Given the description of an element on the screen output the (x, y) to click on. 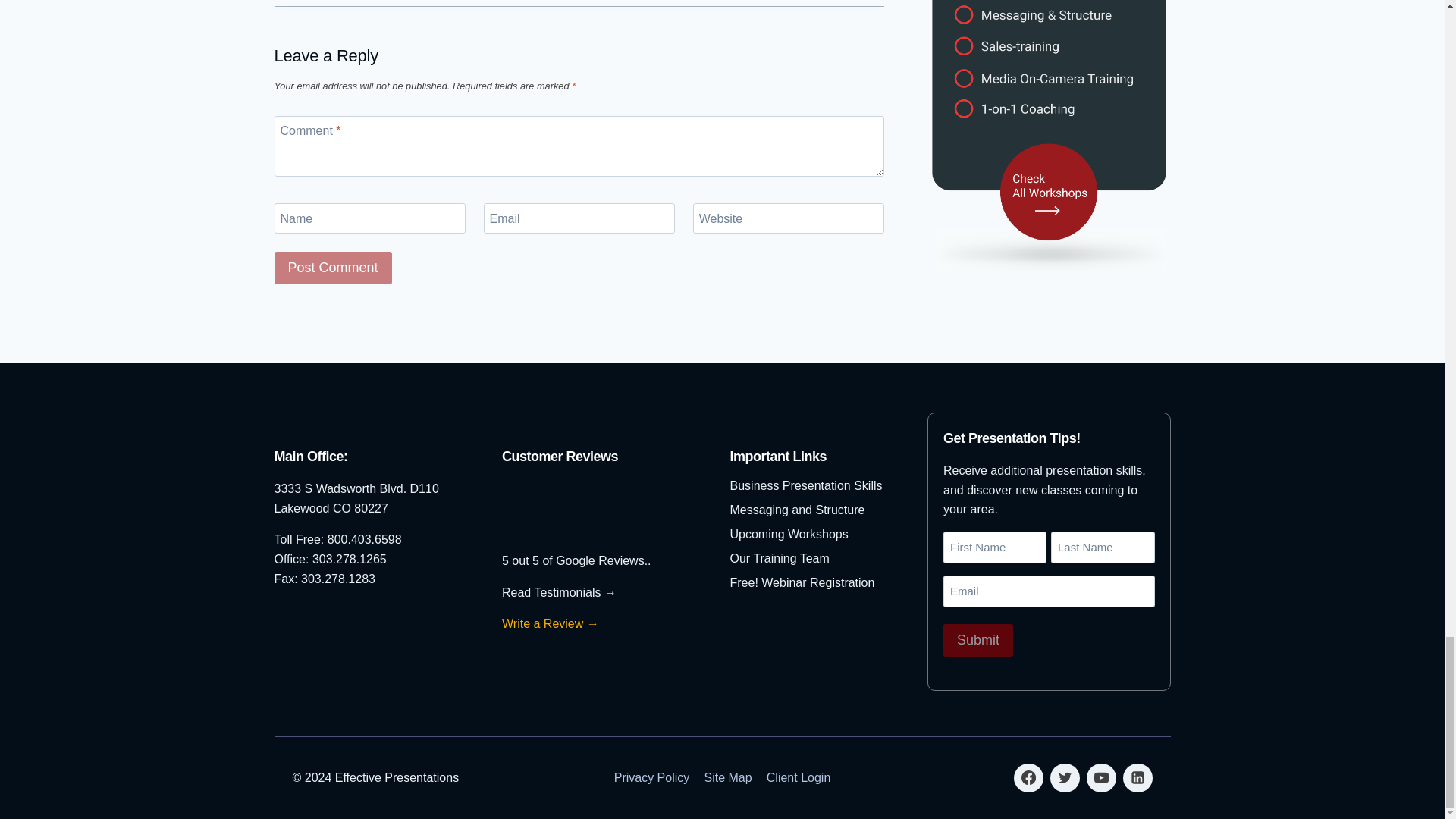
Post Comment (333, 267)
Submit (978, 640)
